Given the description of an element on the screen output the (x, y) to click on. 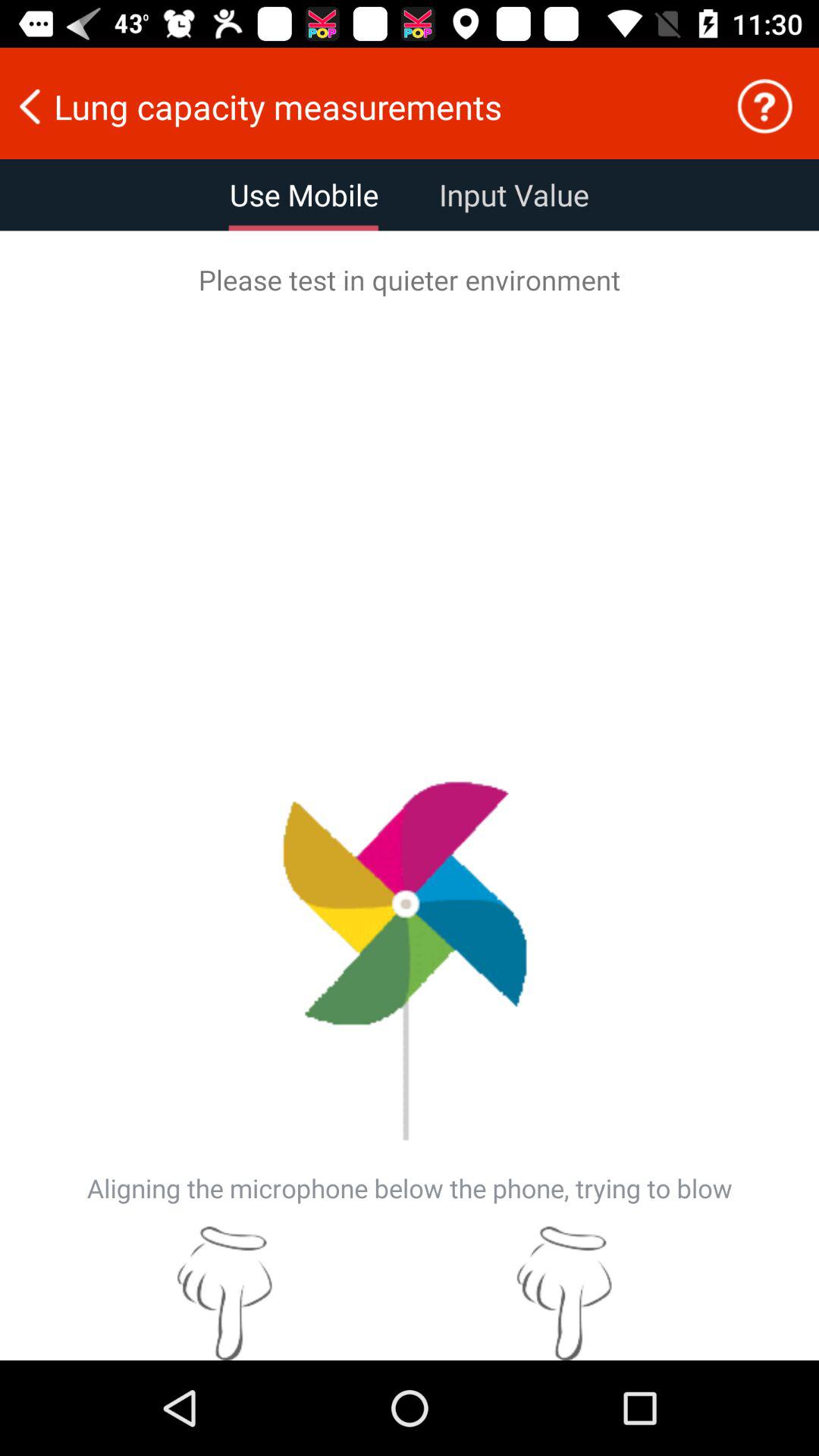
turn off input value item (513, 194)
